Given the description of an element on the screen output the (x, y) to click on. 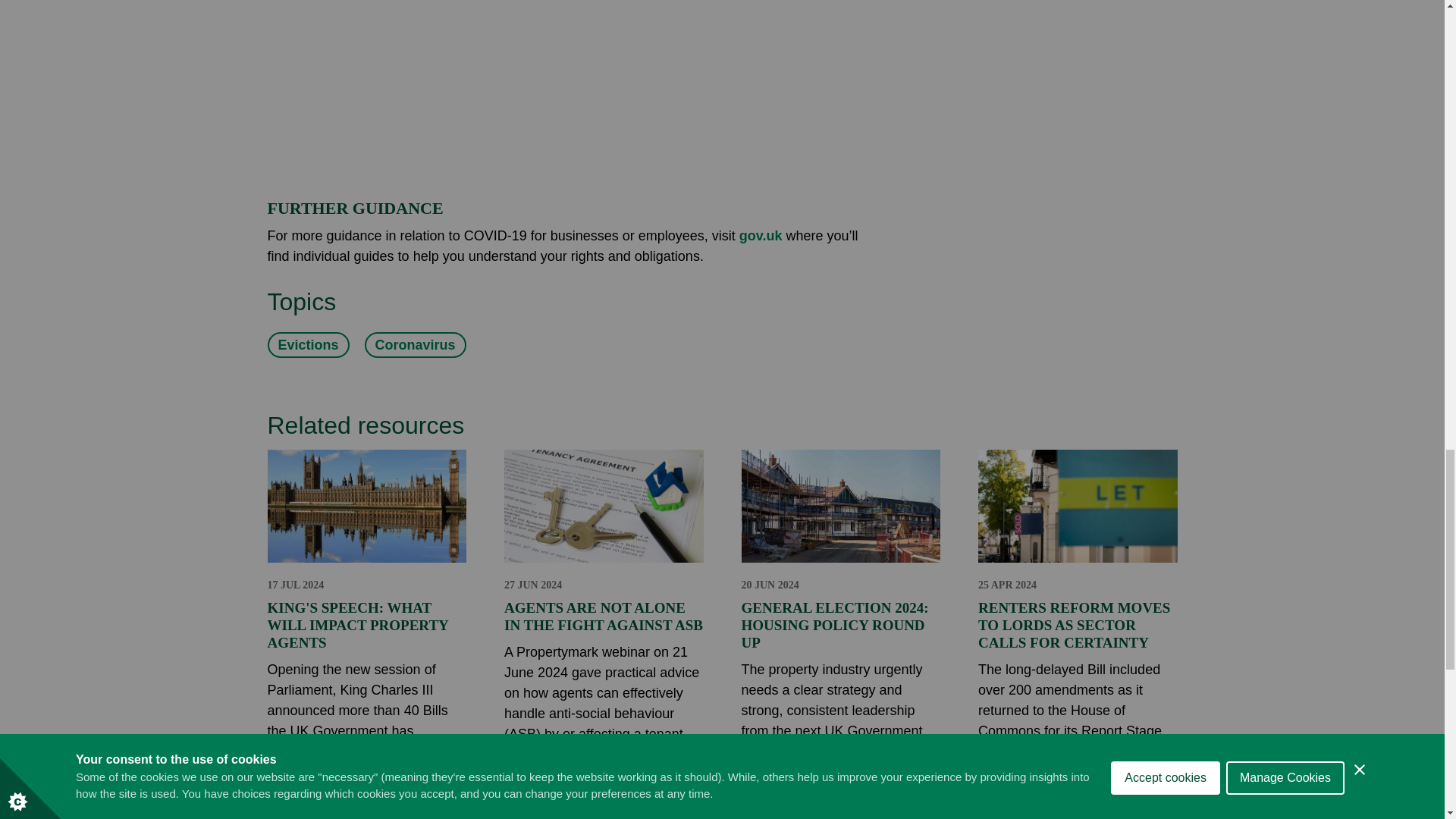
page title (761, 235)
